Given the description of an element on the screen output the (x, y) to click on. 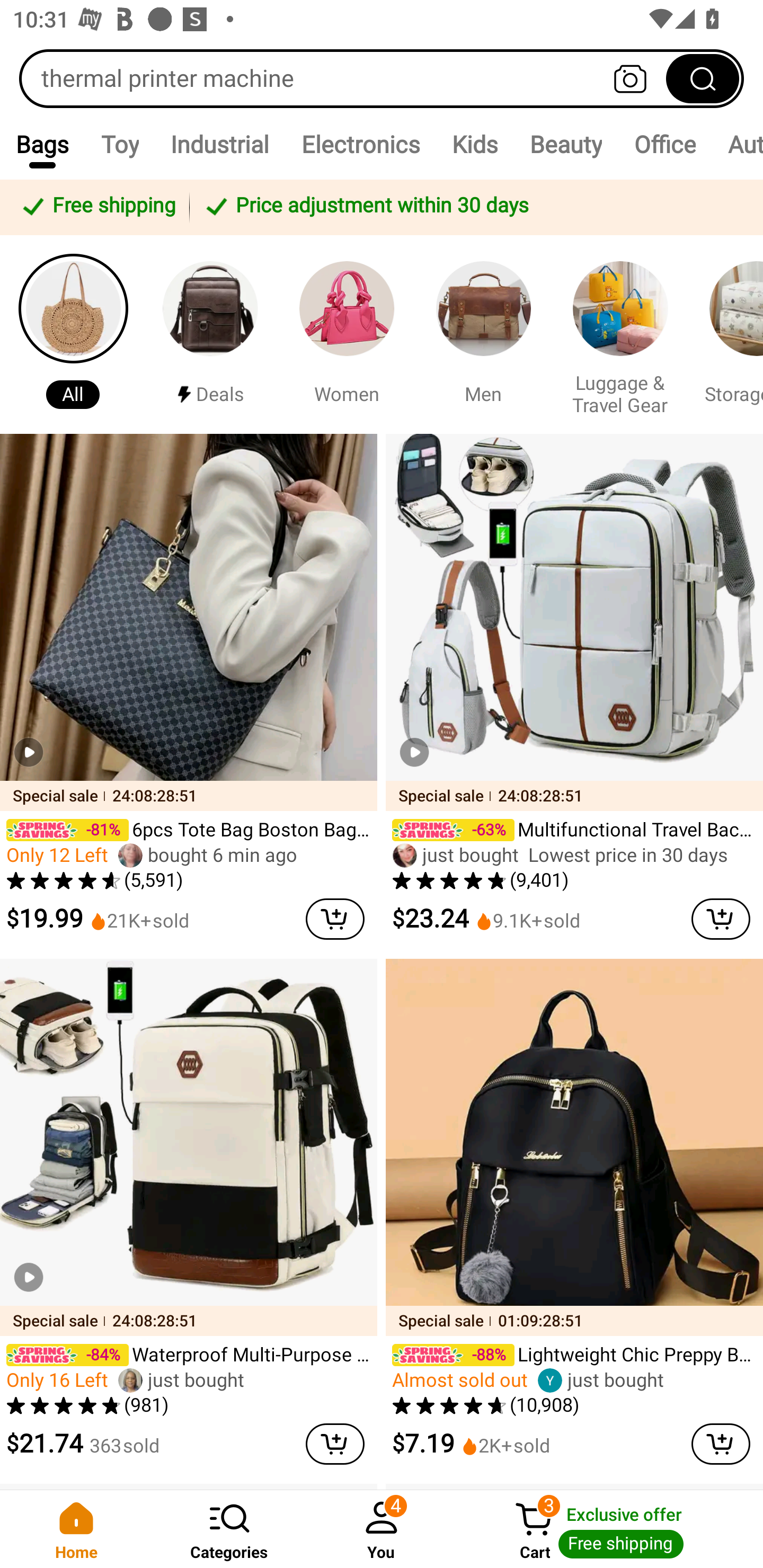
thermal printer machine (381, 78)
Bags (42, 144)
Toy (119, 144)
Industrial (219, 144)
Electronics (360, 144)
Kids (474, 144)
Beauty (565, 144)
Office (664, 144)
Free shipping (97, 206)
Price adjustment within 30 days (472, 206)
All (72, 333)
￼￼Deals (209, 333)
Women (346, 333)
Men (482, 333)
Luggage & Travel Gear (619, 333)
Storage Bag (729, 333)
cart delete (334, 918)
cart delete (720, 918)
cart delete (334, 1443)
cart delete (720, 1443)
Home (76, 1528)
Categories (228, 1528)
You 4 You (381, 1528)
Cart 3 Cart Exclusive offer (610, 1528)
